Given the description of an element on the screen output the (x, y) to click on. 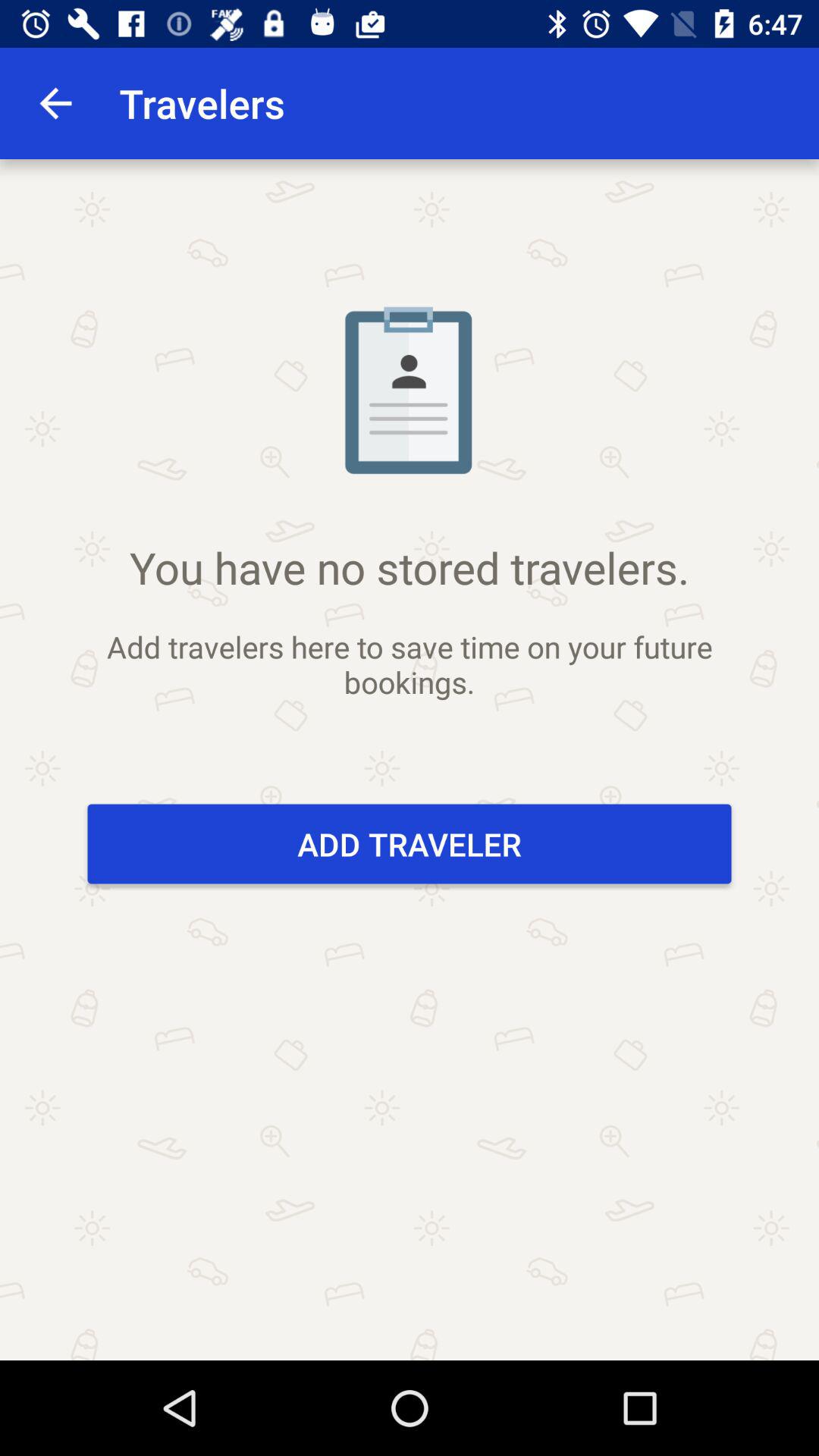
click the icon next to travelers icon (55, 103)
